Given the description of an element on the screen output the (x, y) to click on. 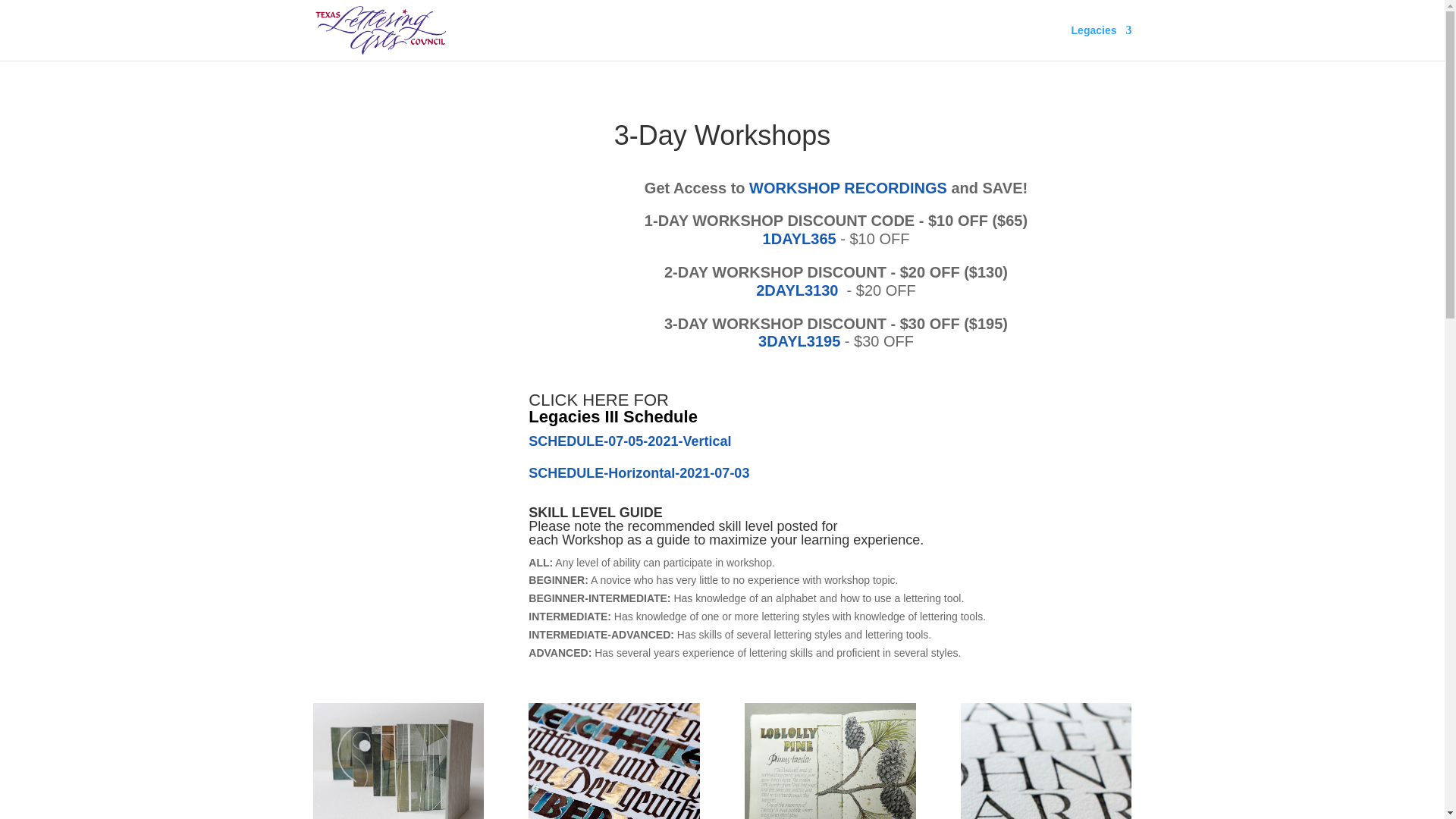
SCHEDULE-Horizontal-2021-07-03 (638, 473)
Legacies (1101, 42)
WORKSHOP RECORDINGS (848, 187)
2DAYL3130 (796, 289)
SCHEDULE-07-05-2021-Vertical (629, 441)
VanSlingerland3d (1045, 760)
1DAYL365 (801, 238)
1DAYL365 (801, 238)
Captura de pantalla 2021-04-01 a las 18.22.56 - Ivan Castro (613, 760)
CicaleART (829, 760)
3DAYL3195 (799, 340)
July 3, 2021 (638, 473)
AnnandART (398, 760)
